Given the description of an element on the screen output the (x, y) to click on. 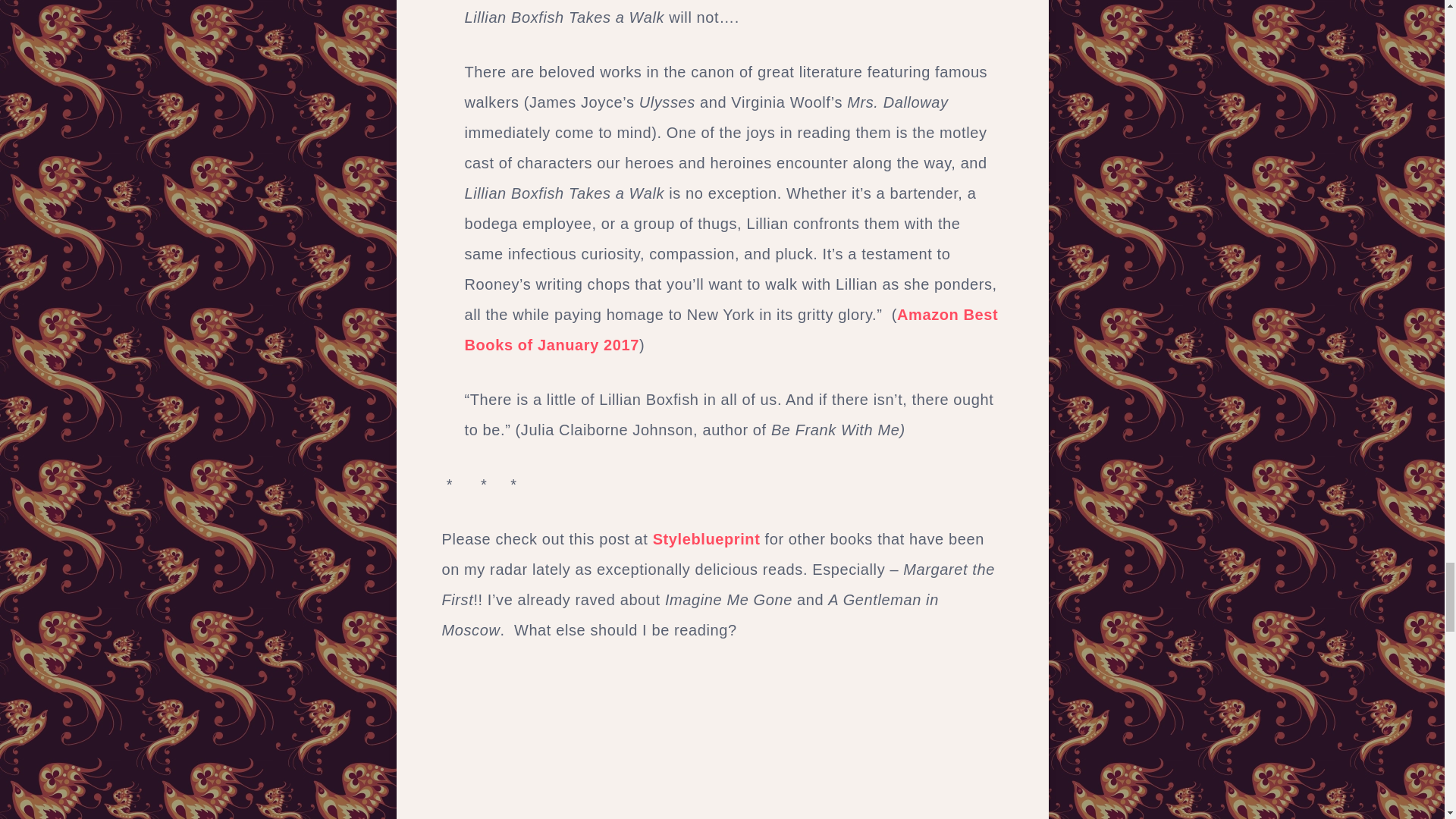
Amazon Best Books of January 2017 (730, 329)
Styleblueprint (706, 538)
